Given the description of an element on the screen output the (x, y) to click on. 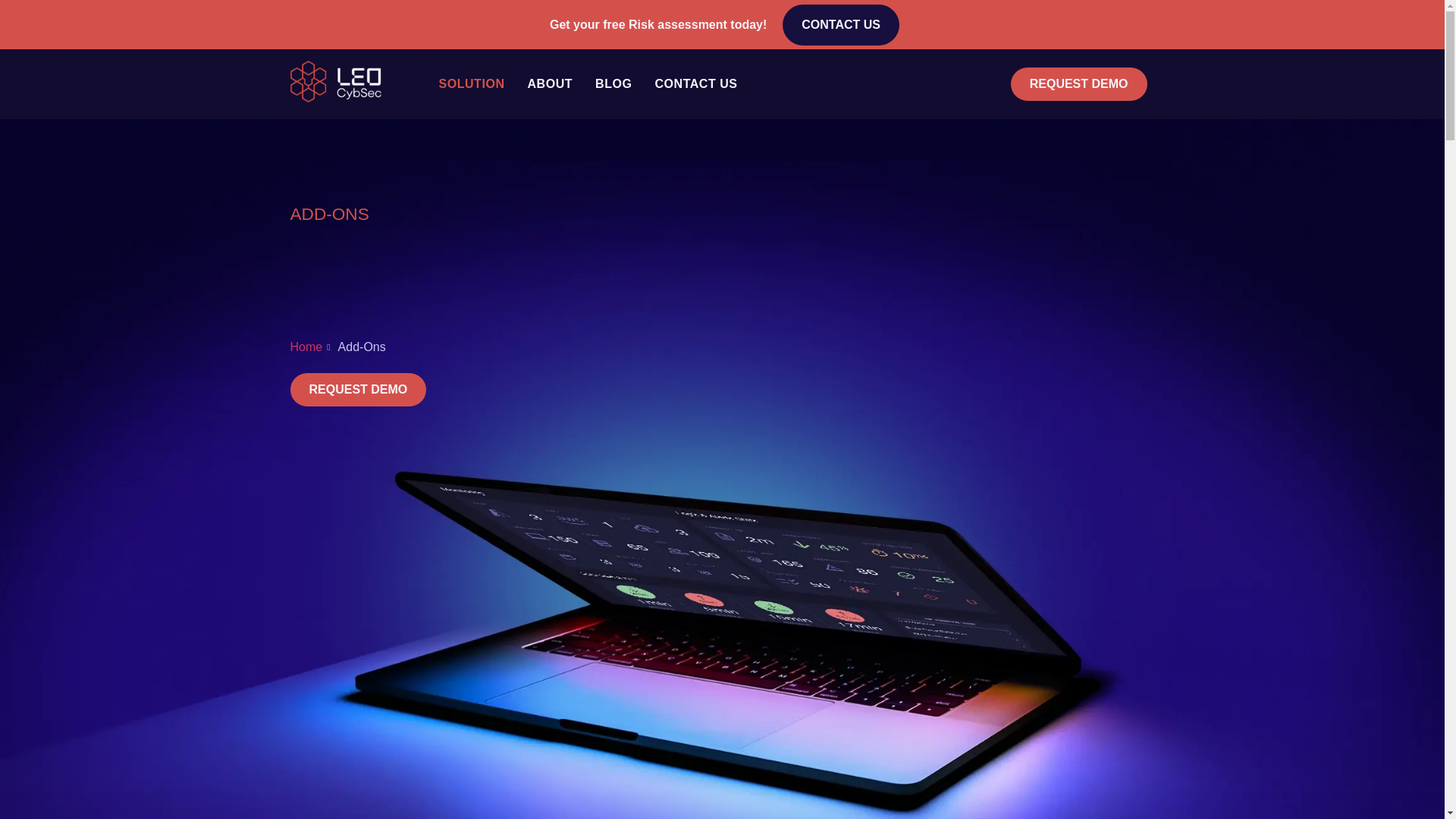
CONTACT US (695, 83)
Add-Ons (355, 347)
REQUEST DEMO (357, 389)
ABOUT (549, 83)
SOLUTION (472, 83)
Get your free Risk assessment today! (657, 24)
REQUEST DEMO (1078, 83)
BLOG (613, 83)
Home (305, 347)
CONTACT US (841, 24)
